Given the description of an element on the screen output the (x, y) to click on. 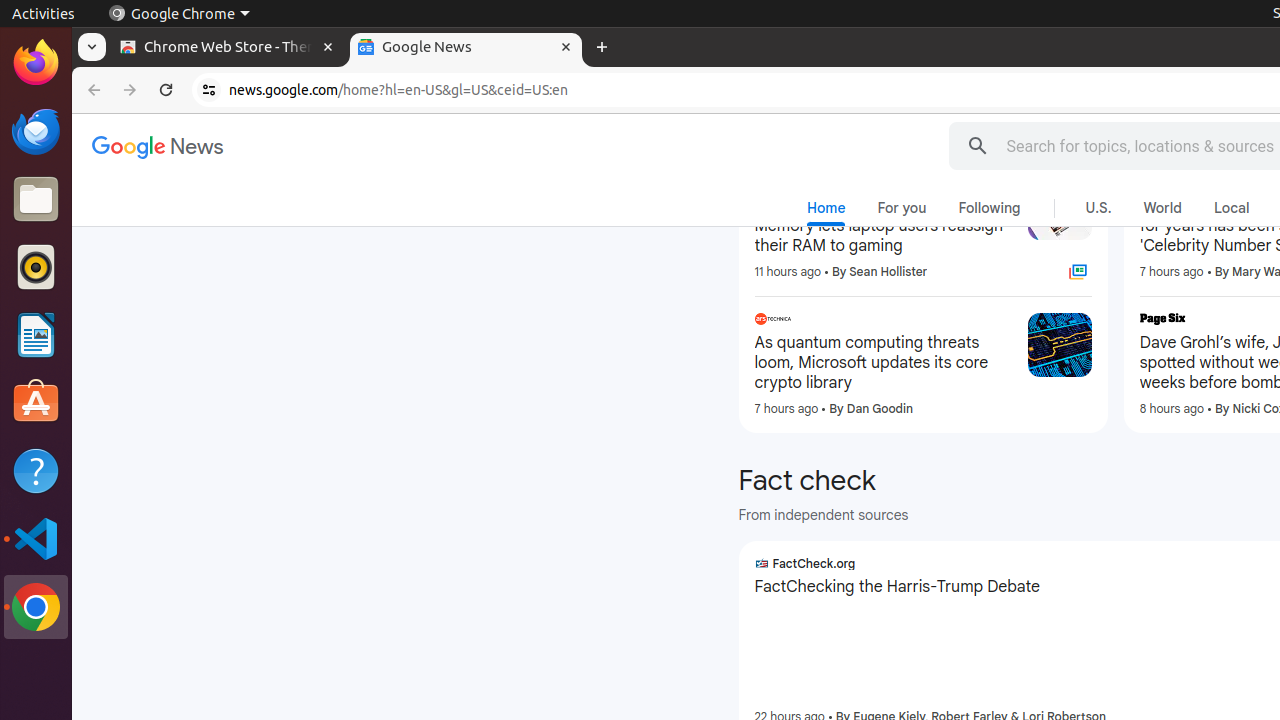
Ubuntu Software Element type: push-button (36, 402)
Files Element type: push-button (36, 199)
World Element type: menu-item (1162, 208)
Following Element type: menu-item (989, 208)
Rhythmbox Element type: push-button (36, 267)
